Given the description of an element on the screen output the (x, y) to click on. 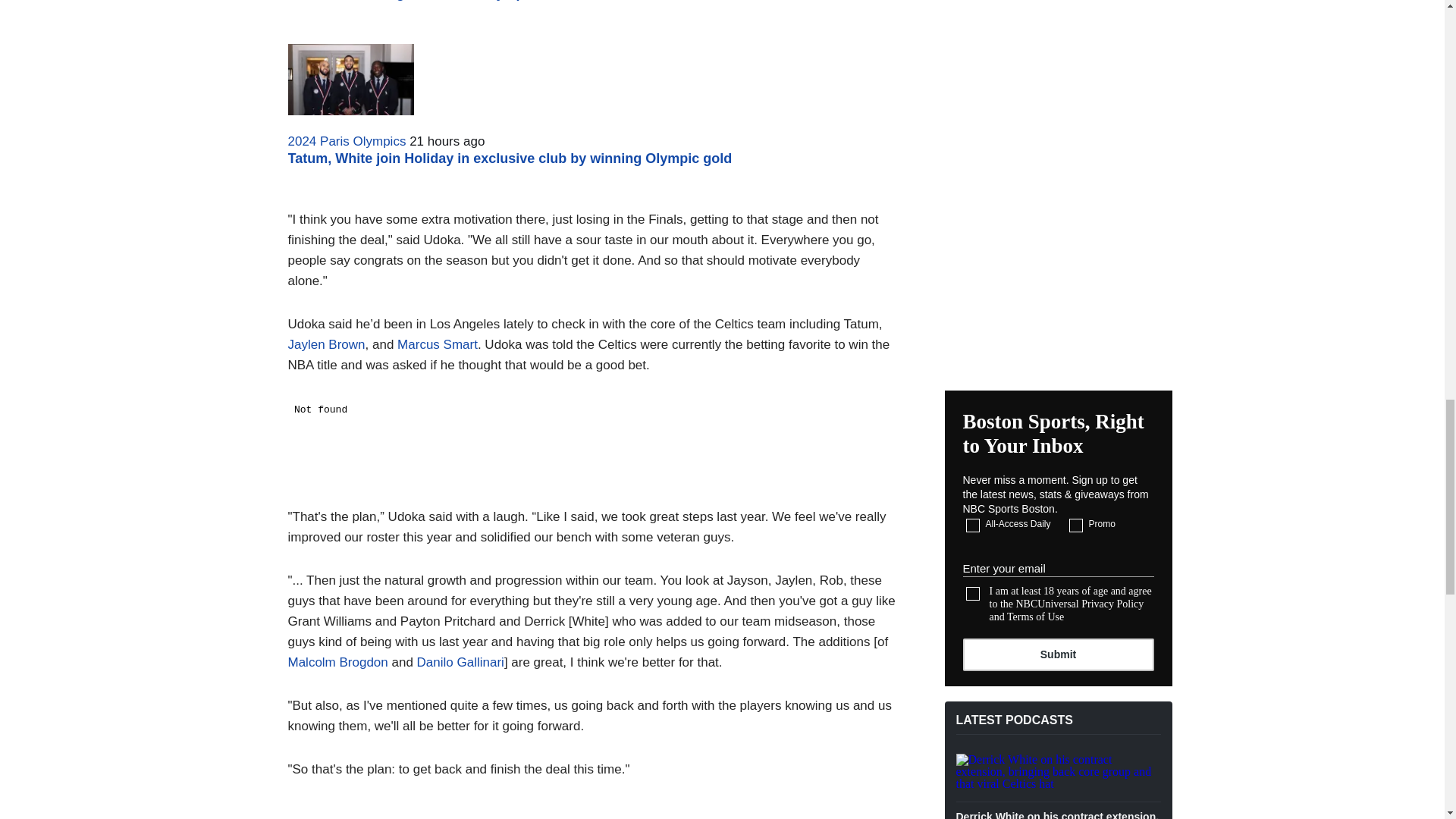
Malcolm Brogdon (338, 662)
Marcus Smart (437, 344)
Danilo Gallinari (459, 662)
Jaylen Brown (326, 344)
on (972, 525)
on (972, 593)
2024 Paris Olympics (347, 141)
on (1075, 525)
